Given the description of an element on the screen output the (x, y) to click on. 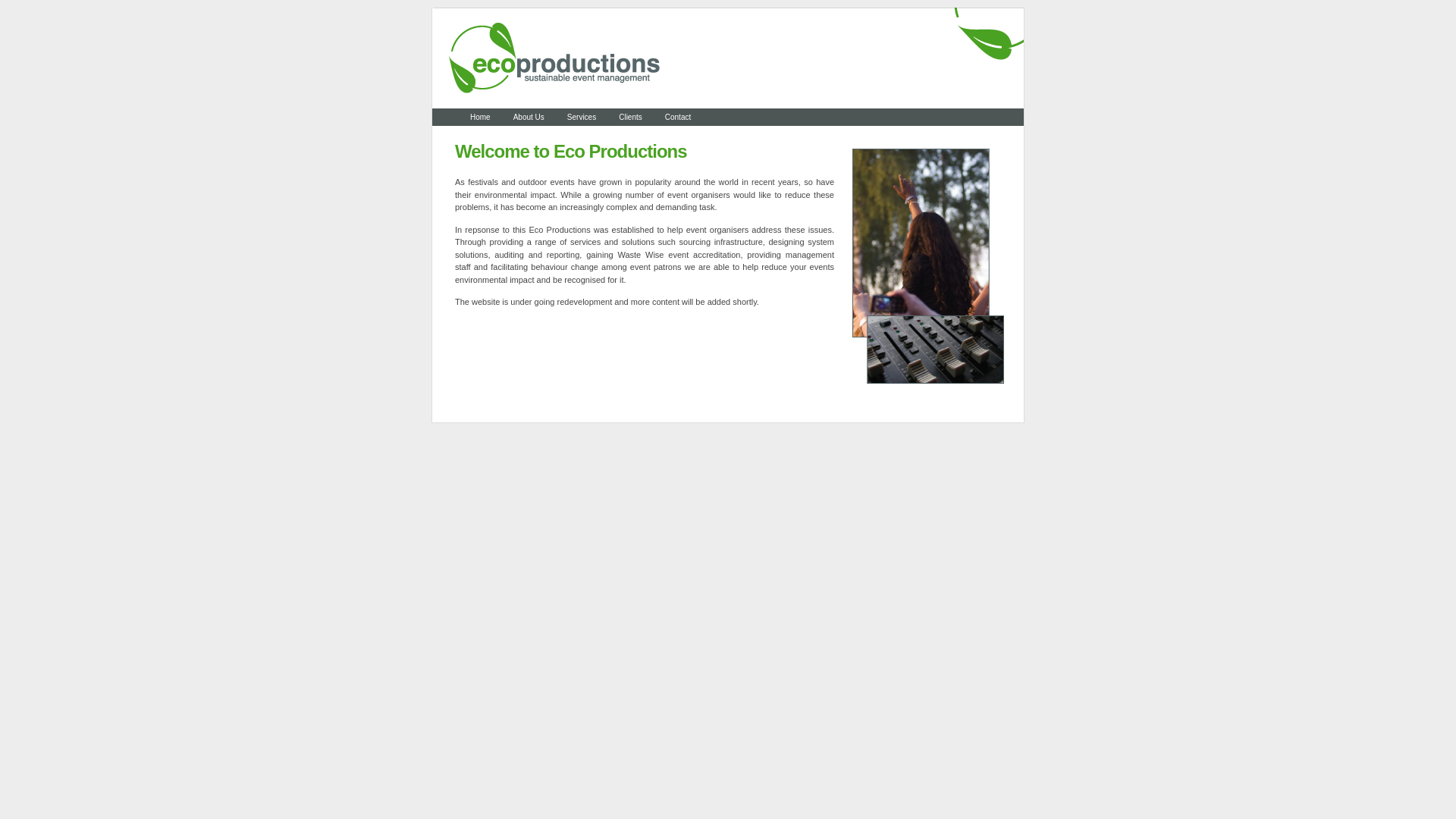
Clients Element type: text (630, 117)
Services Element type: text (581, 117)
About Us Element type: text (528, 117)
Eco Productions Element type: hover (727, 105)
Home Element type: text (480, 117)
Contact Element type: text (677, 117)
